Given the description of an element on the screen output the (x, y) to click on. 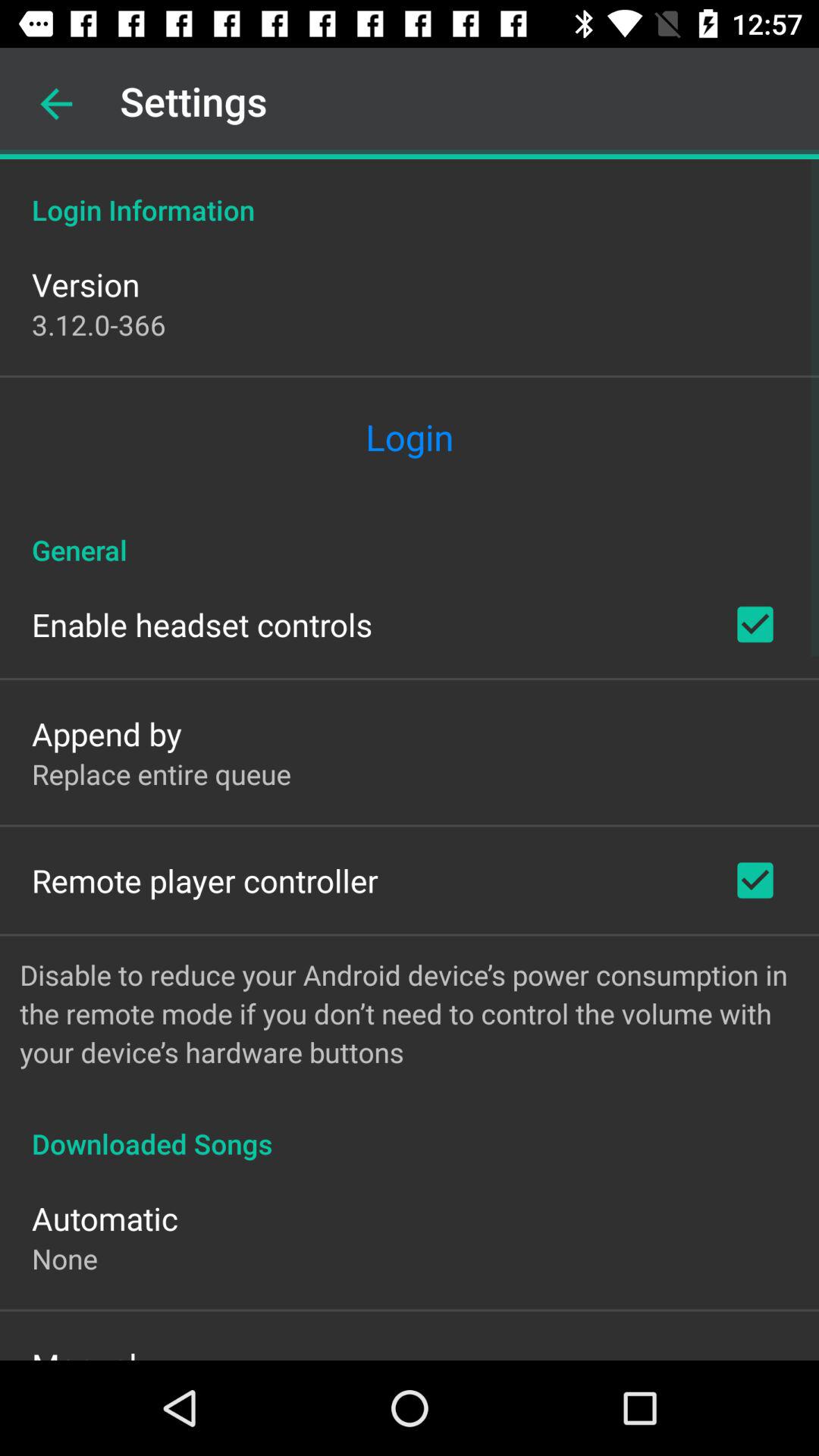
launch the item next to settings icon (56, 103)
